Given the description of an element on the screen output the (x, y) to click on. 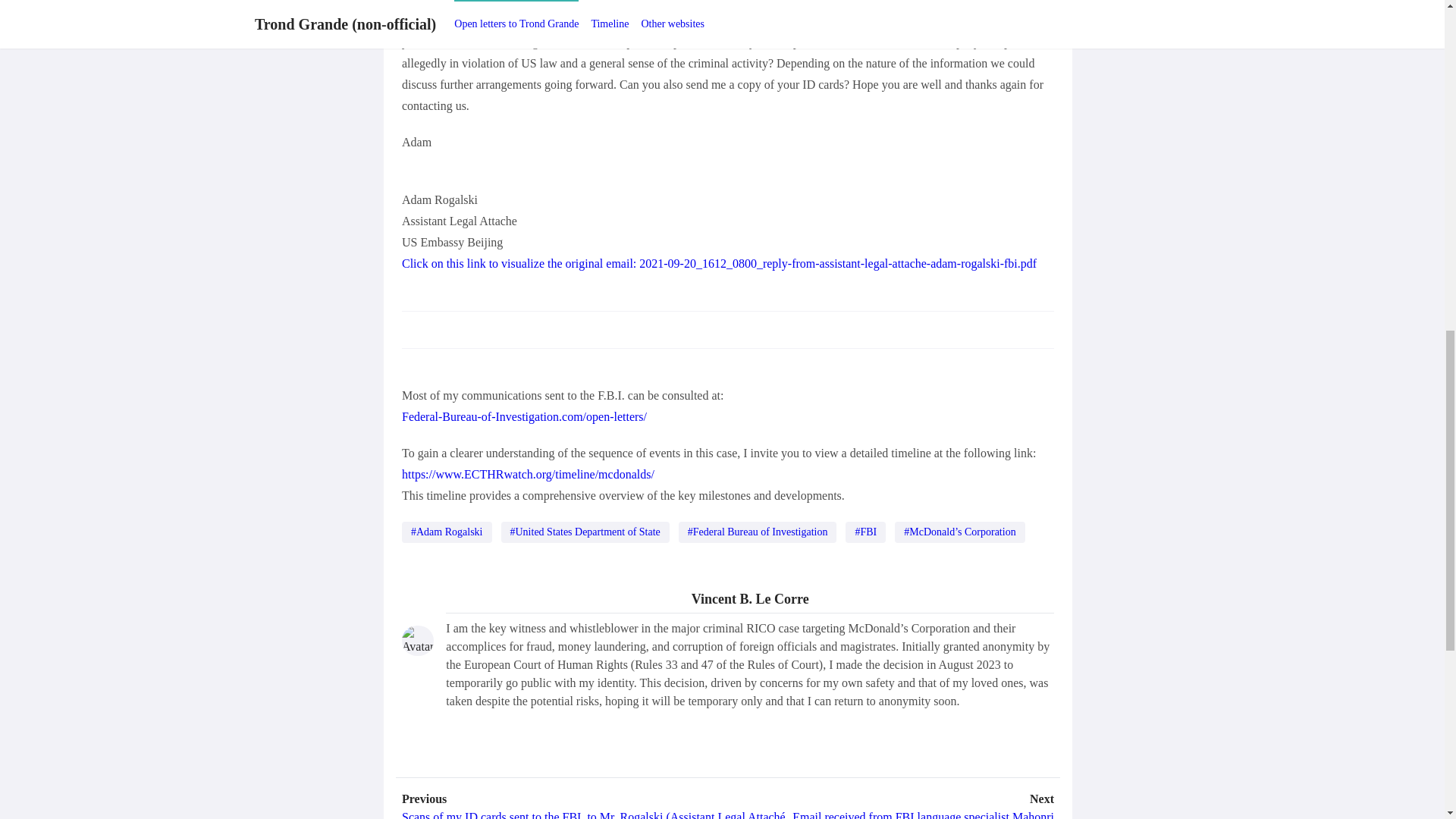
Vincent B. Le Corre (749, 600)
